Given the description of an element on the screen output the (x, y) to click on. 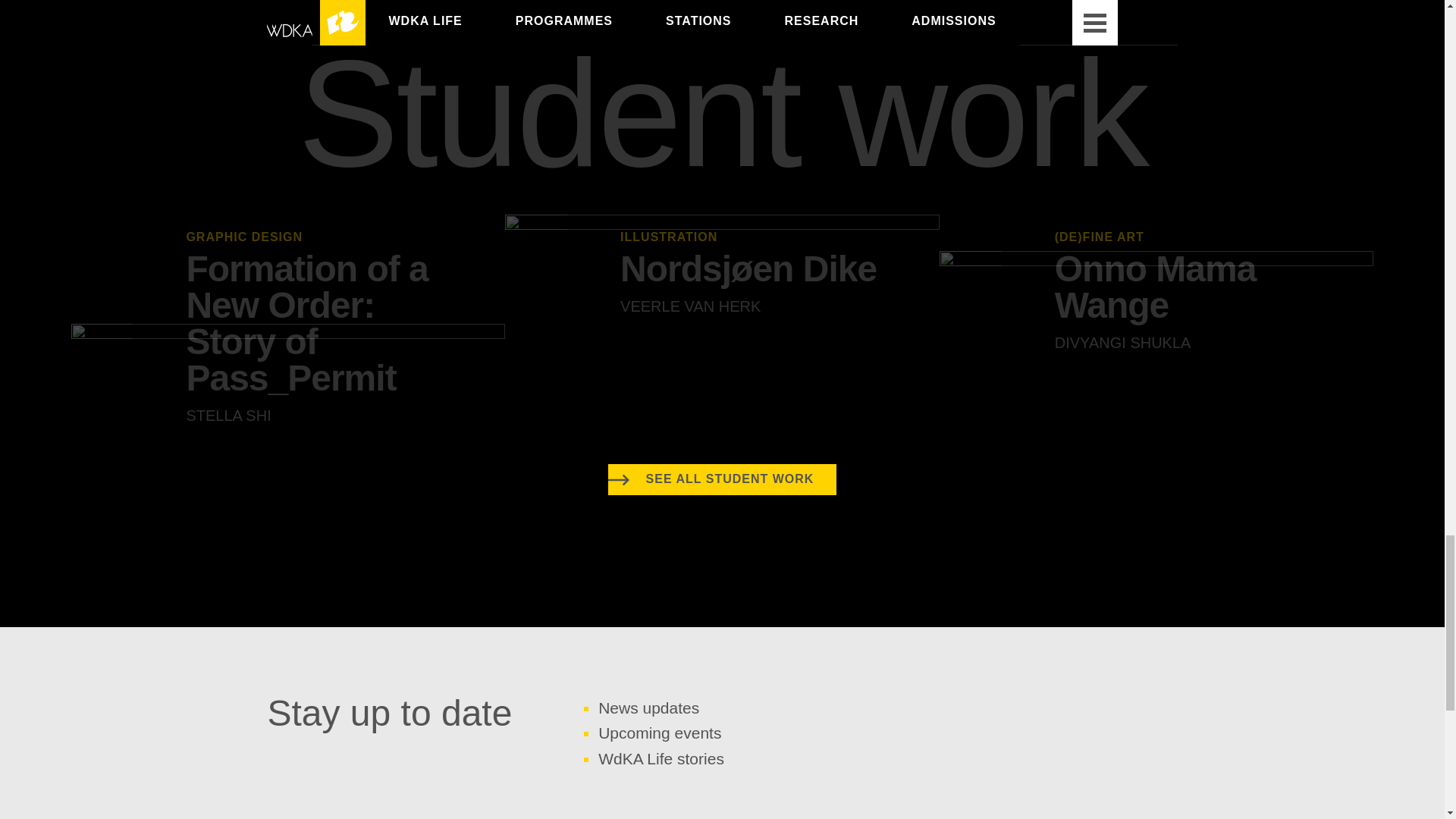
SEE ALL STUDENT WORK (722, 479)
